Given the description of an element on the screen output the (x, y) to click on. 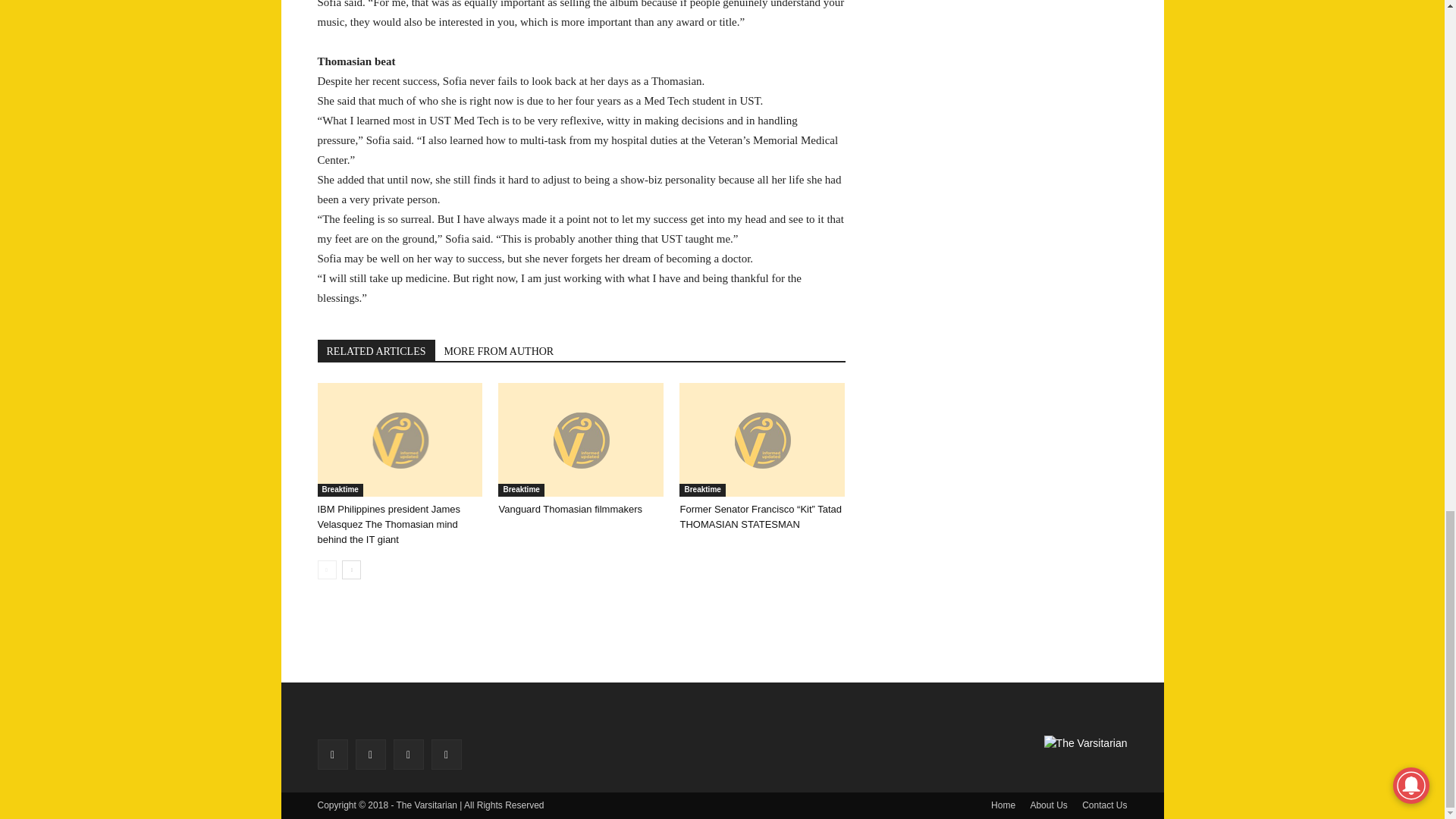
Vanguard Thomasian filmmakers (580, 439)
Vanguard Thomasian filmmakers (569, 509)
